Given the description of an element on the screen output the (x, y) to click on. 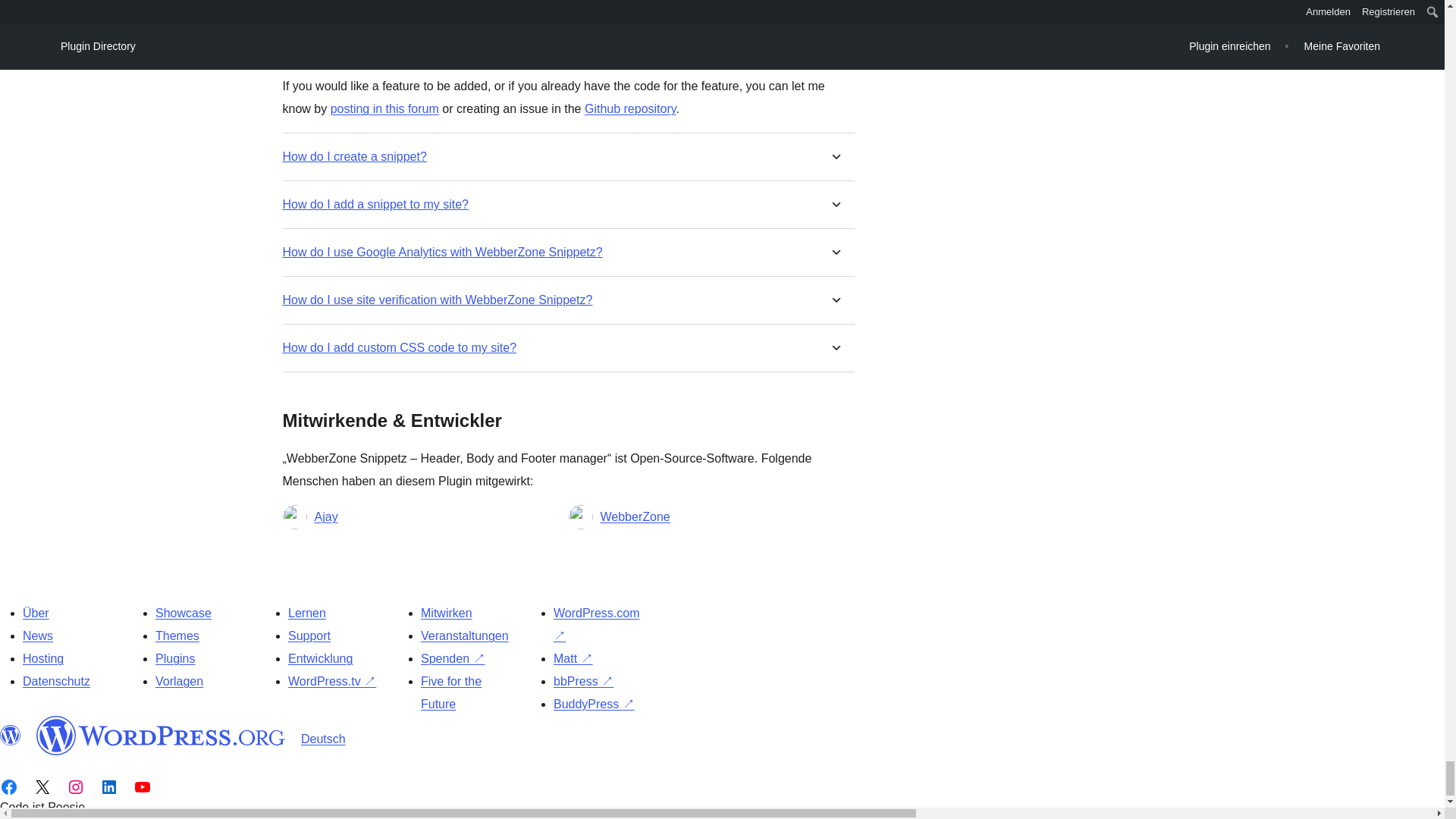
WordPress.org (10, 735)
WordPress.org (160, 735)
